Given the description of an element on the screen output the (x, y) to click on. 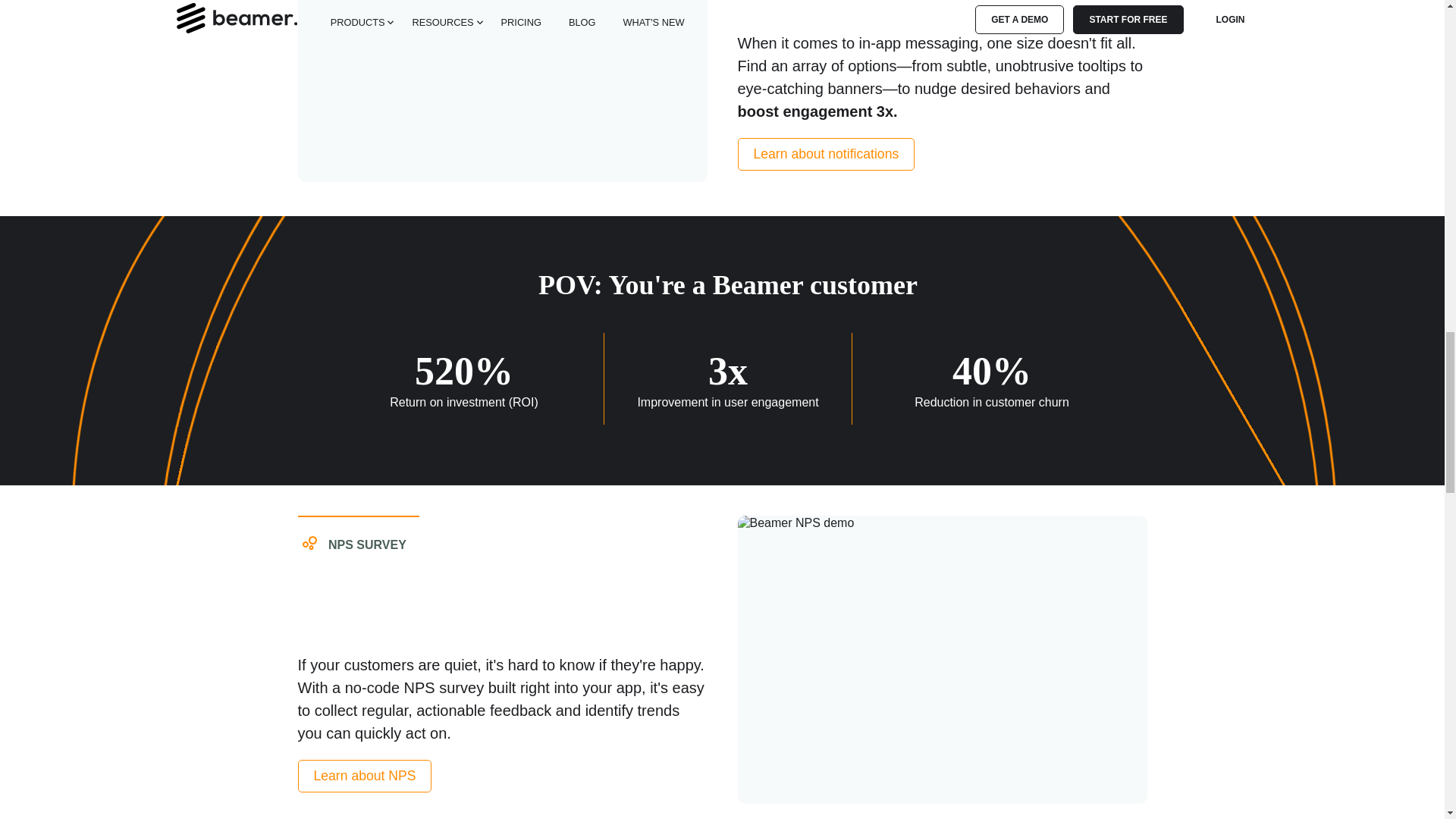
IN-APP NOTIFICATIONS (941, 8)
